Given the description of an element on the screen output the (x, y) to click on. 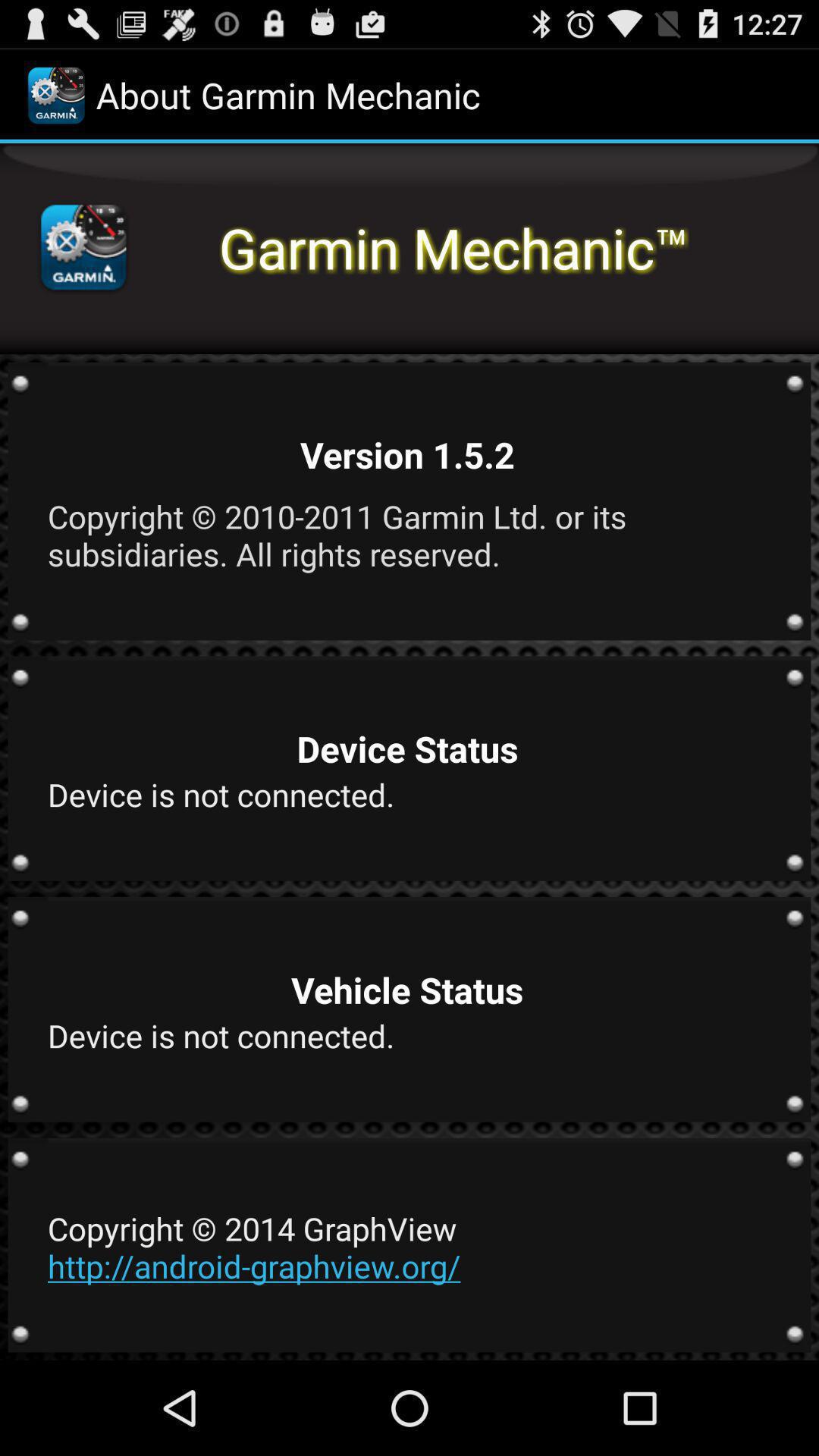
turn off icon below the device is not item (407, 1246)
